Given the description of an element on the screen output the (x, y) to click on. 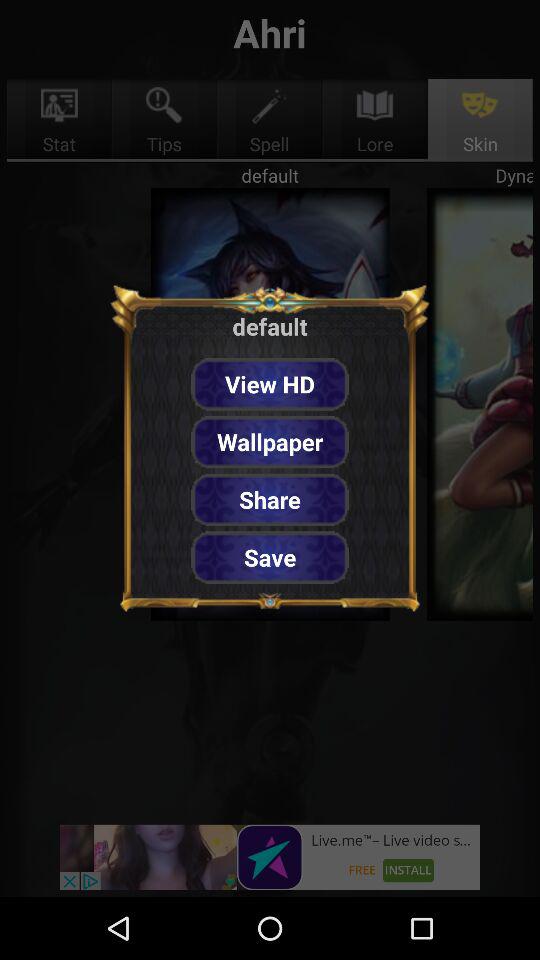
turn on item above wallpaper button (269, 384)
